Given the description of an element on the screen output the (x, y) to click on. 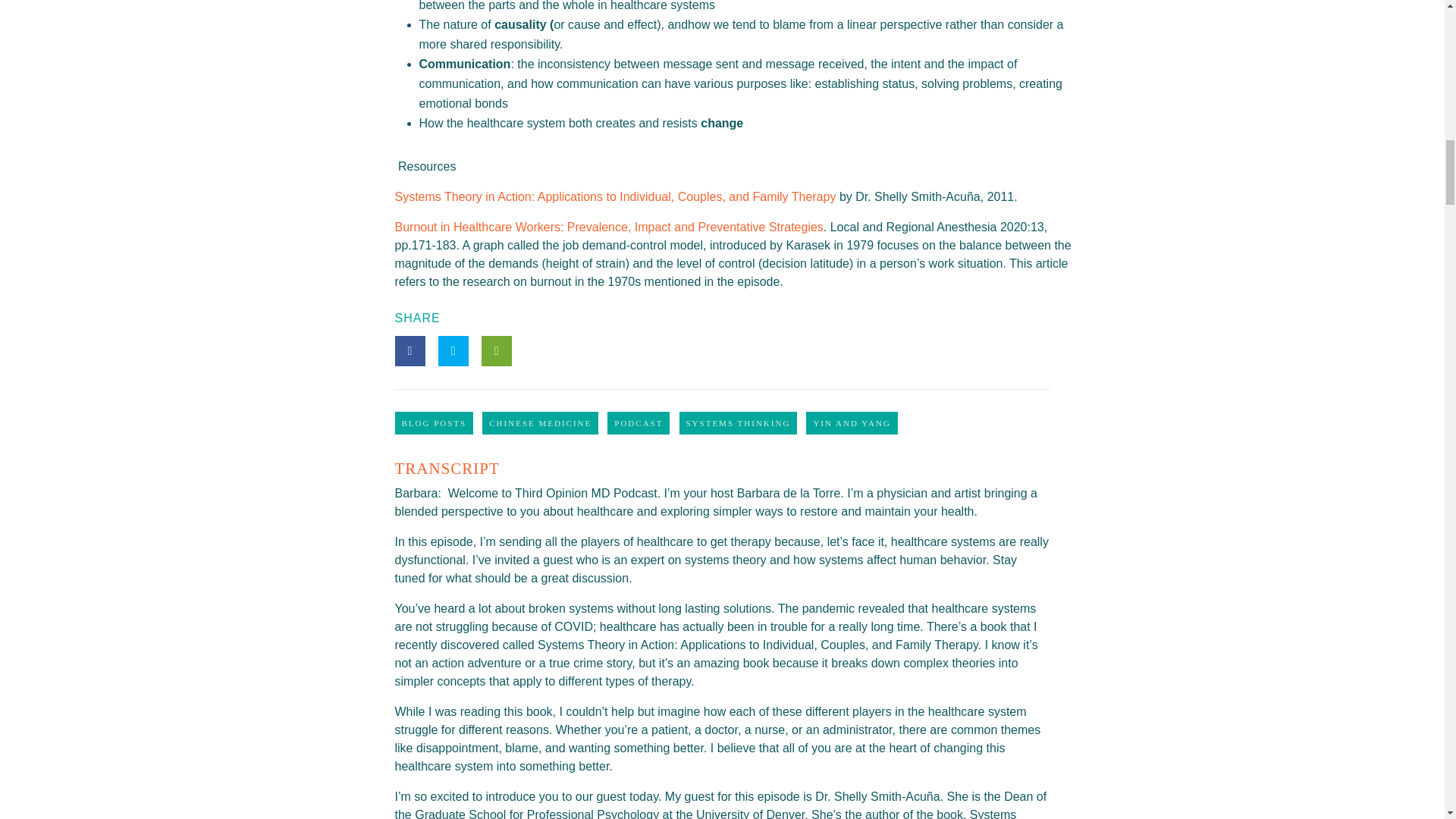
YIN AND YANG (850, 422)
SYSTEMS THINKING (737, 422)
BLOG POSTS (434, 422)
PODCAST (638, 422)
CHINESE MEDICINE (540, 422)
